Given the description of an element on the screen output the (x, y) to click on. 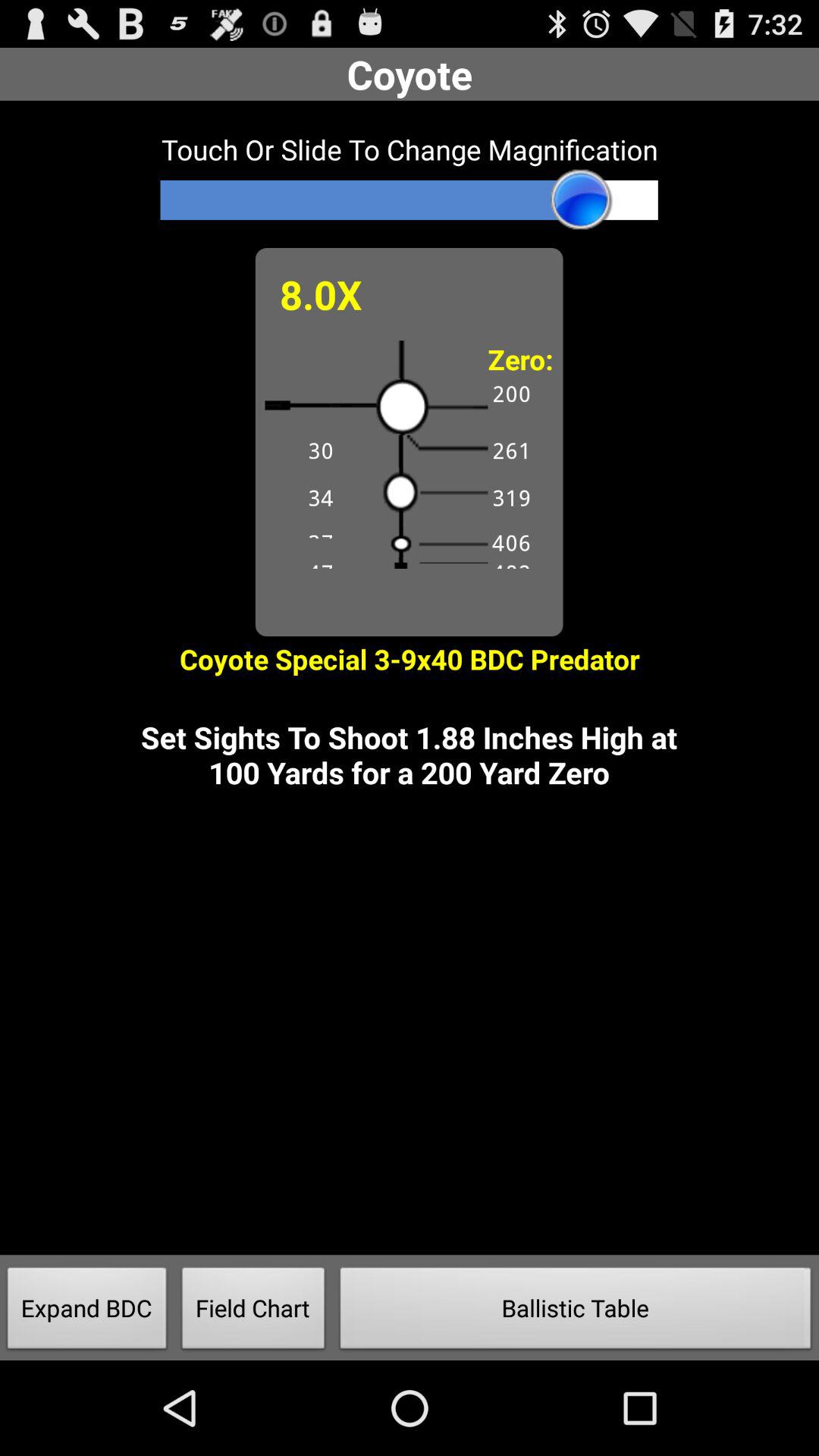
choose ballistic table icon (575, 1312)
